Given the description of an element on the screen output the (x, y) to click on. 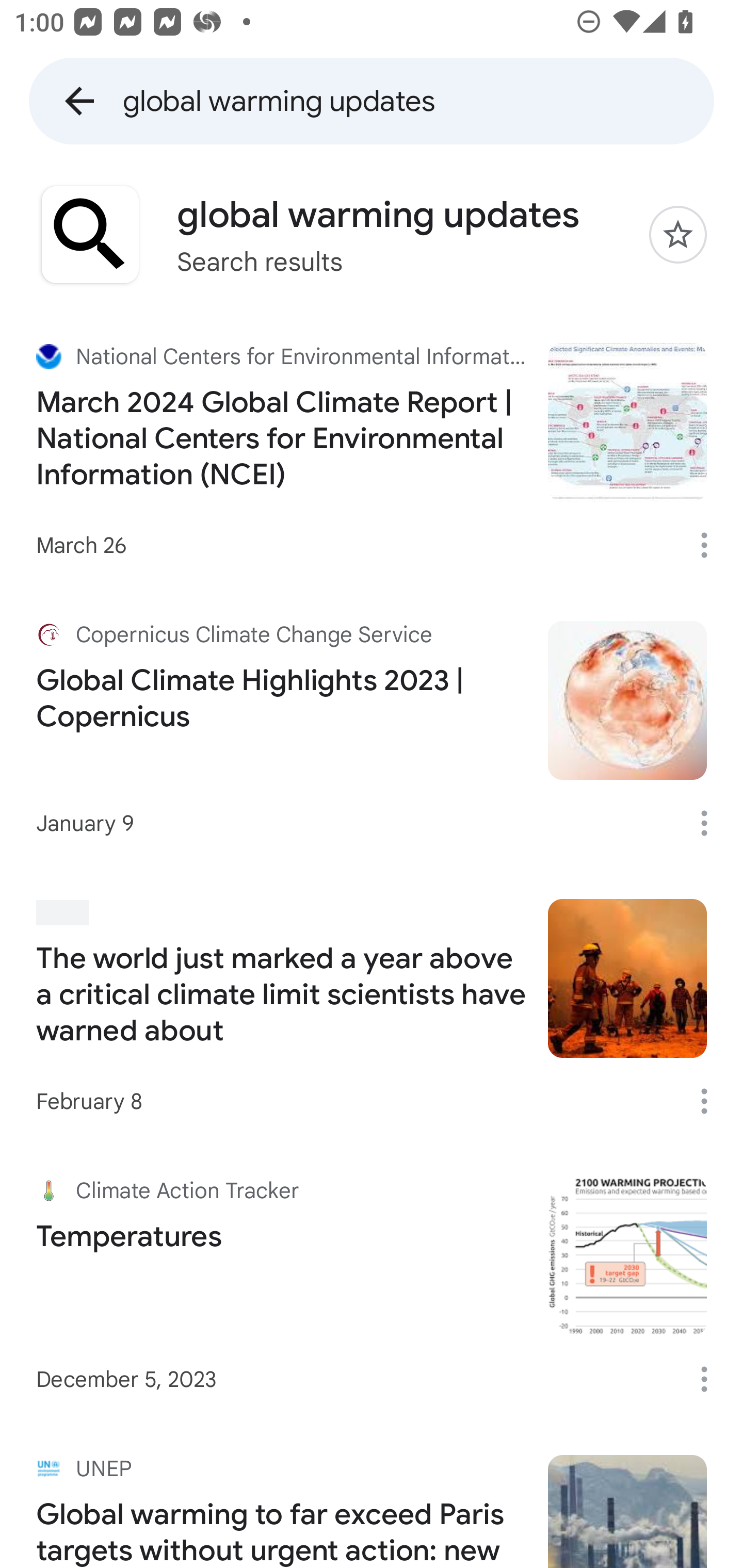
Navigate up (79, 101)
global warming updates Search results Follow (371, 234)
Follow (677, 234)
More options (711, 544)
More options (711, 823)
More options (711, 1101)
More options (711, 1378)
